Given the description of an element on the screen output the (x, y) to click on. 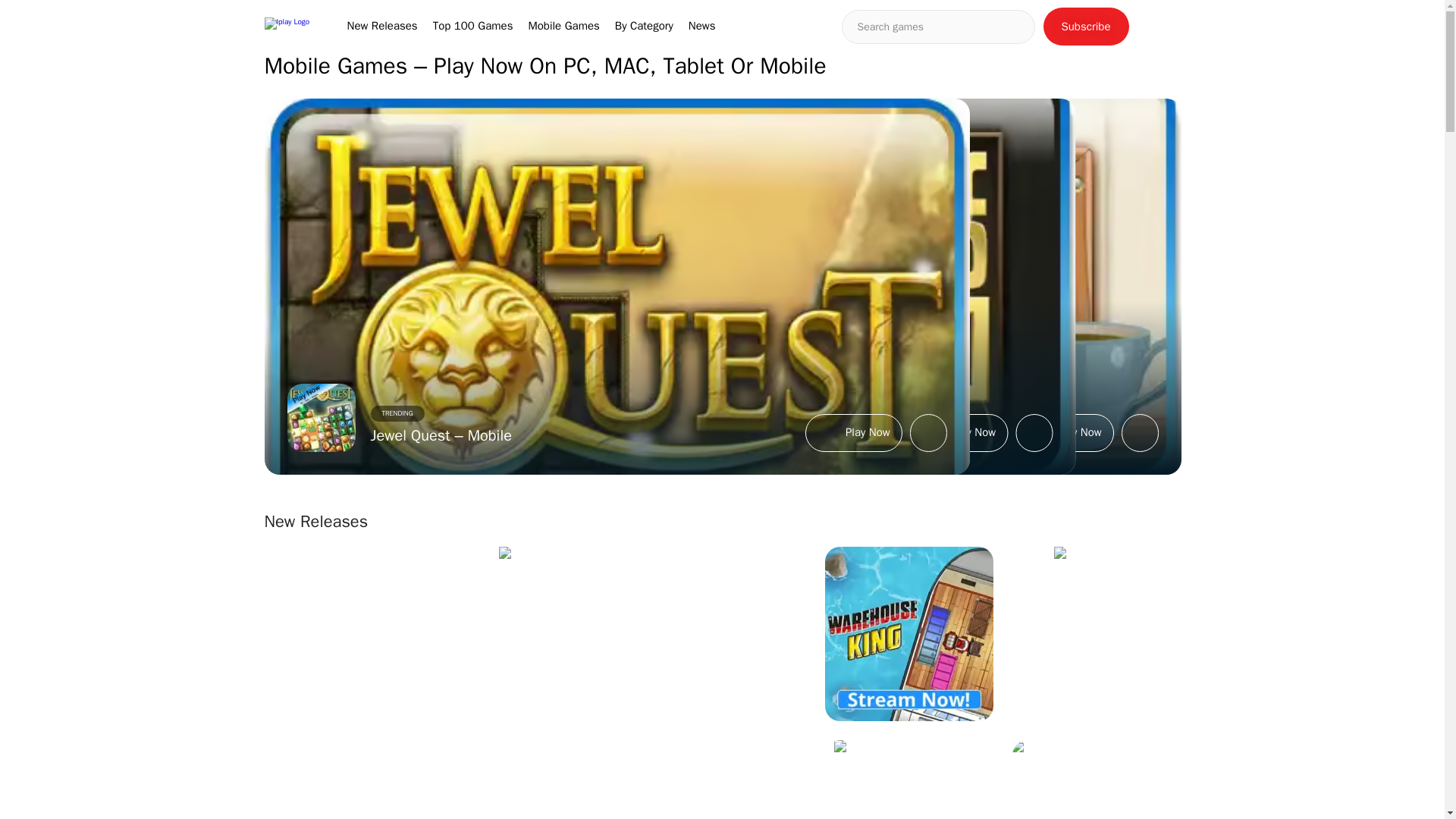
Search (1017, 26)
Play Now (956, 432)
Mobile Games (562, 25)
Play Now (851, 432)
New Releases (382, 25)
News (702, 25)
Play Now (1063, 432)
Search (1017, 26)
Deal or No Deal for Prizes (561, 434)
By Category (643, 25)
Search (1017, 26)
Daily Jigsaw (622, 434)
Top 100 Games (472, 25)
Subscribe (1086, 26)
